Given the description of an element on the screen output the (x, y) to click on. 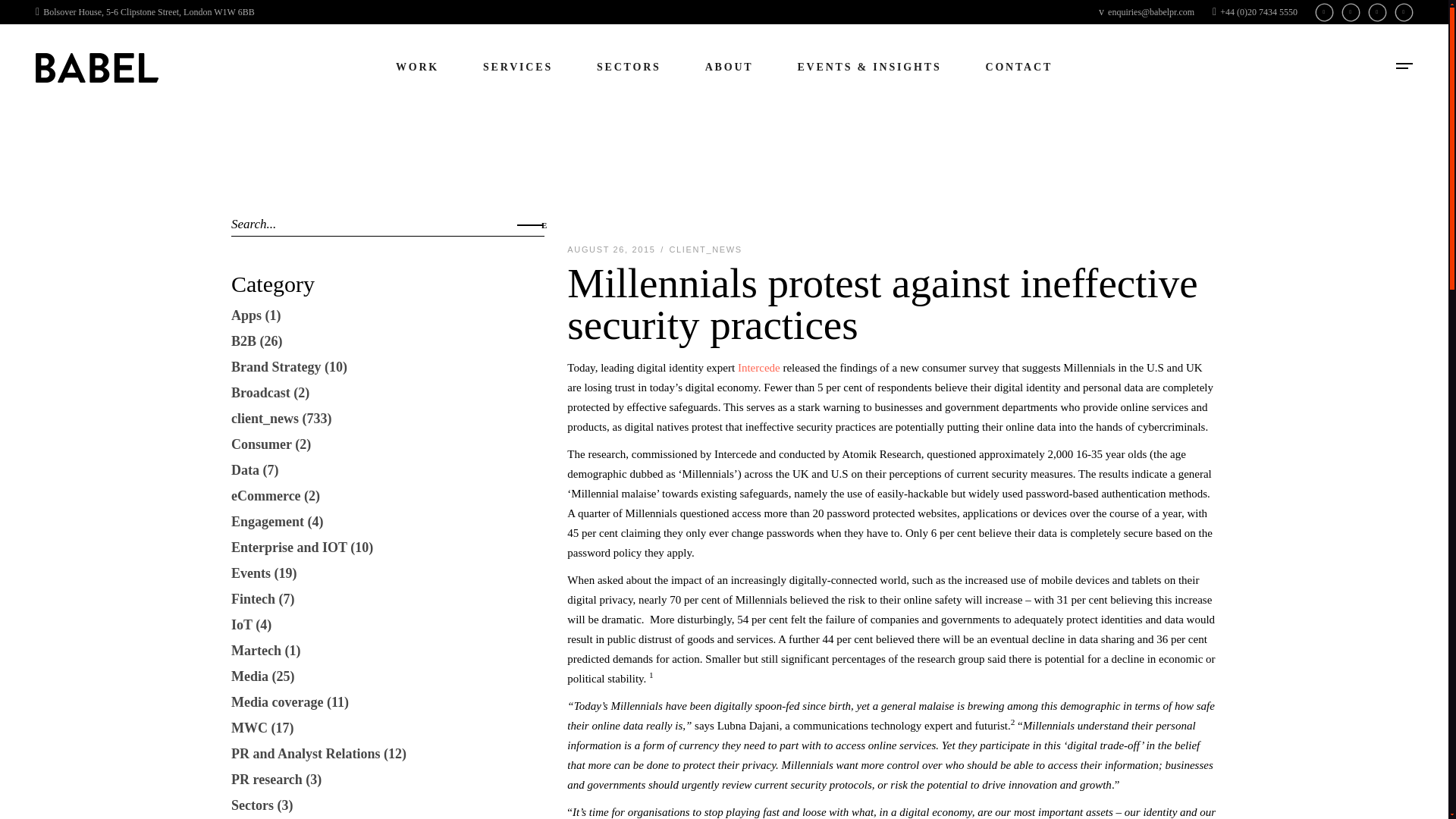
Bolsover House, 5-6 Clipstone Street, London W1W 6BB (144, 11)
